Given the description of an element on the screen output the (x, y) to click on. 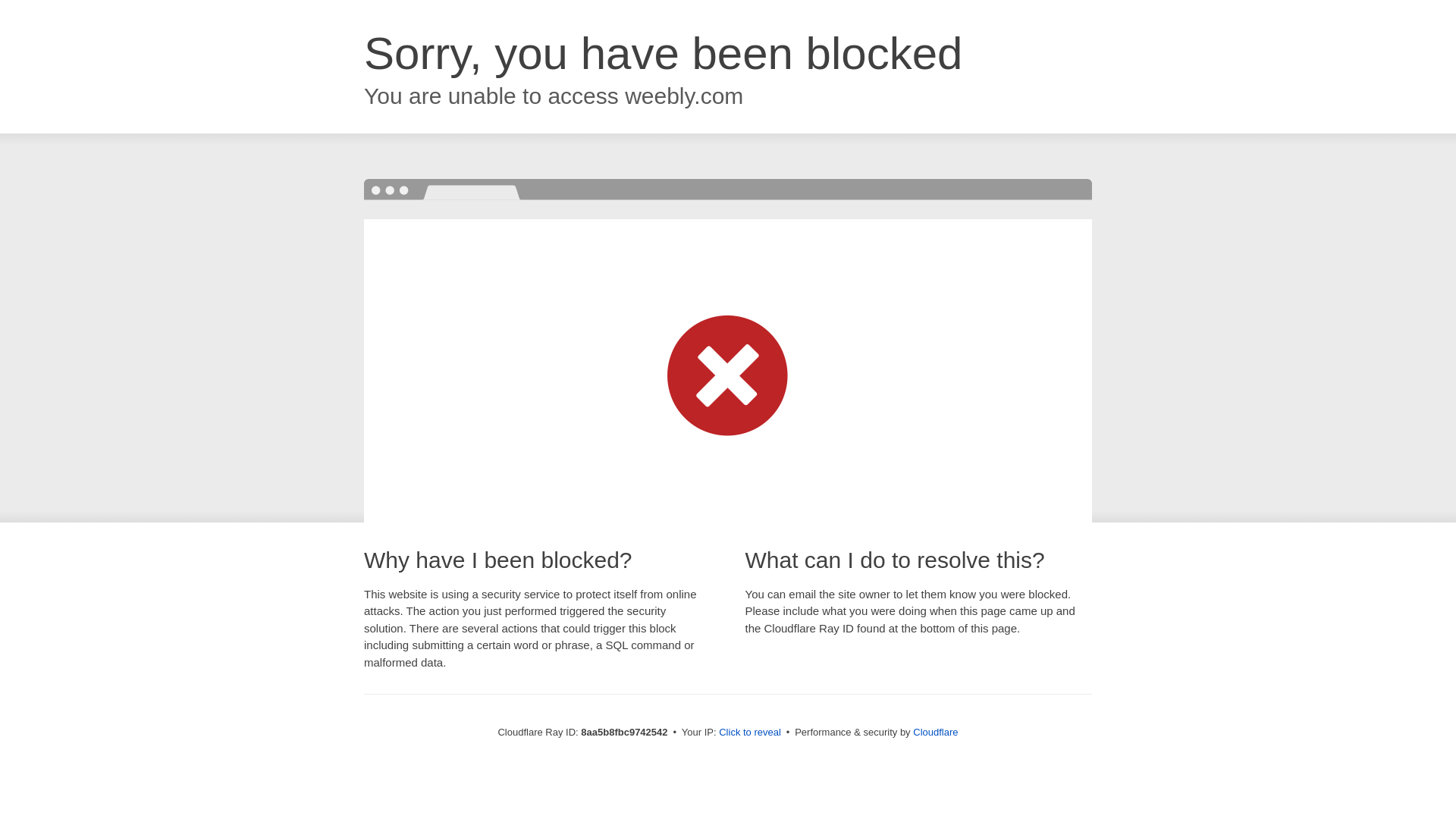
Cloudflare (935, 731)
Click to reveal (749, 732)
